Given the description of an element on the screen output the (x, y) to click on. 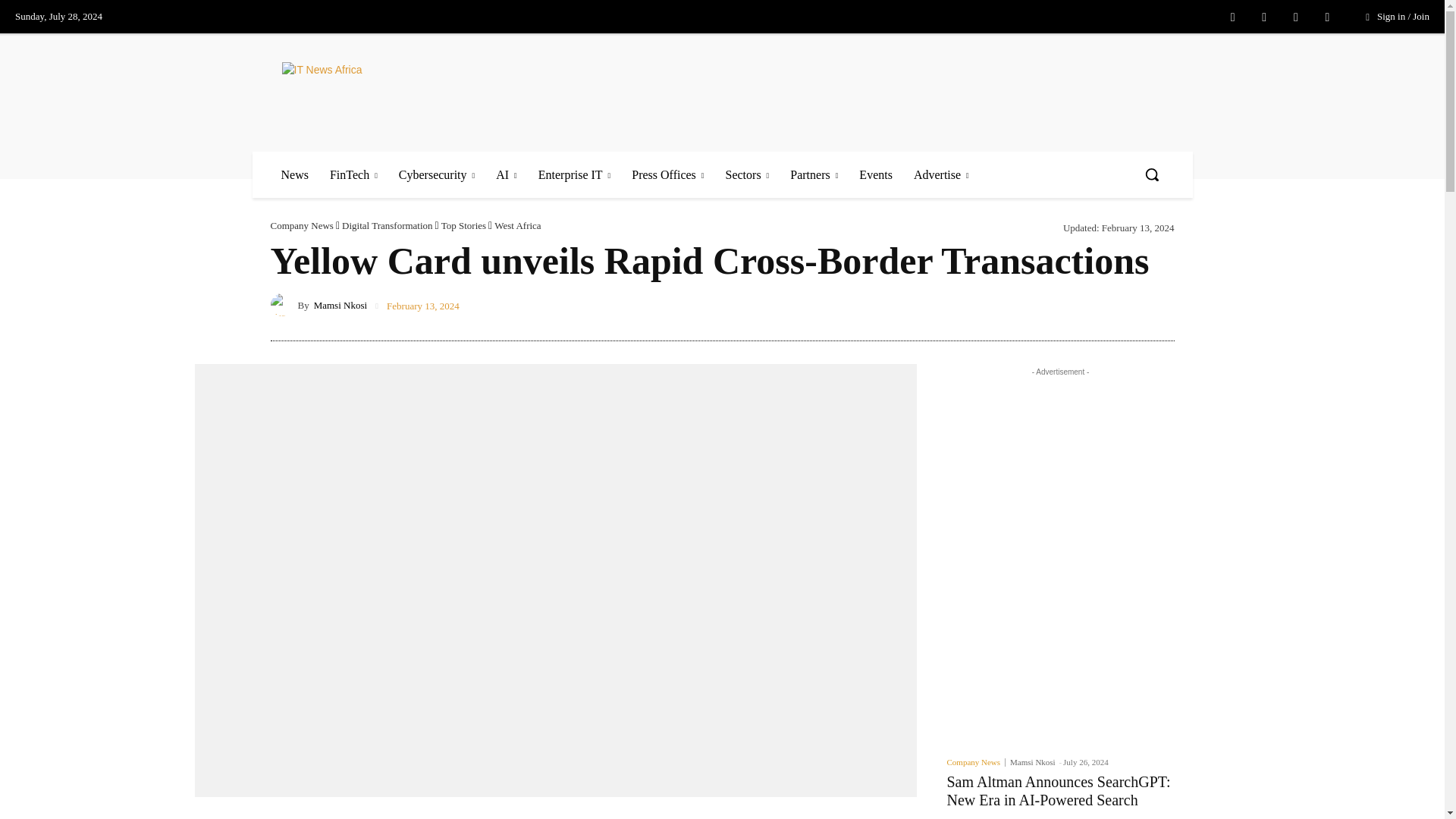
Facebook (1233, 17)
IT News Africa (392, 92)
Instagram (1263, 17)
IT News Africa (373, 92)
News (293, 174)
Twitter (1295, 17)
FinTech (353, 174)
Youtube (1327, 17)
